Given the description of an element on the screen output the (x, y) to click on. 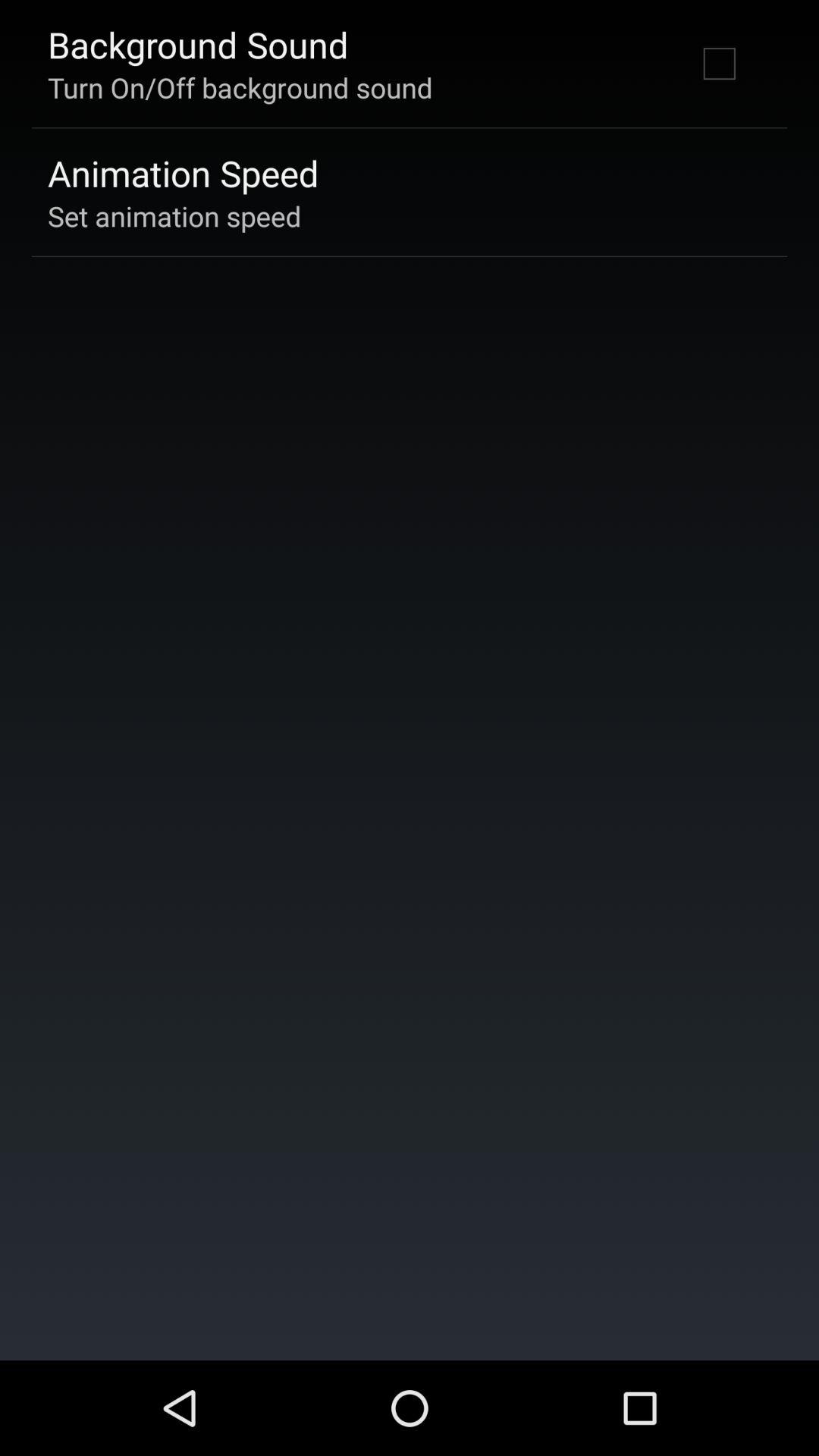
scroll to turn on off app (239, 87)
